Given the description of an element on the screen output the (x, y) to click on. 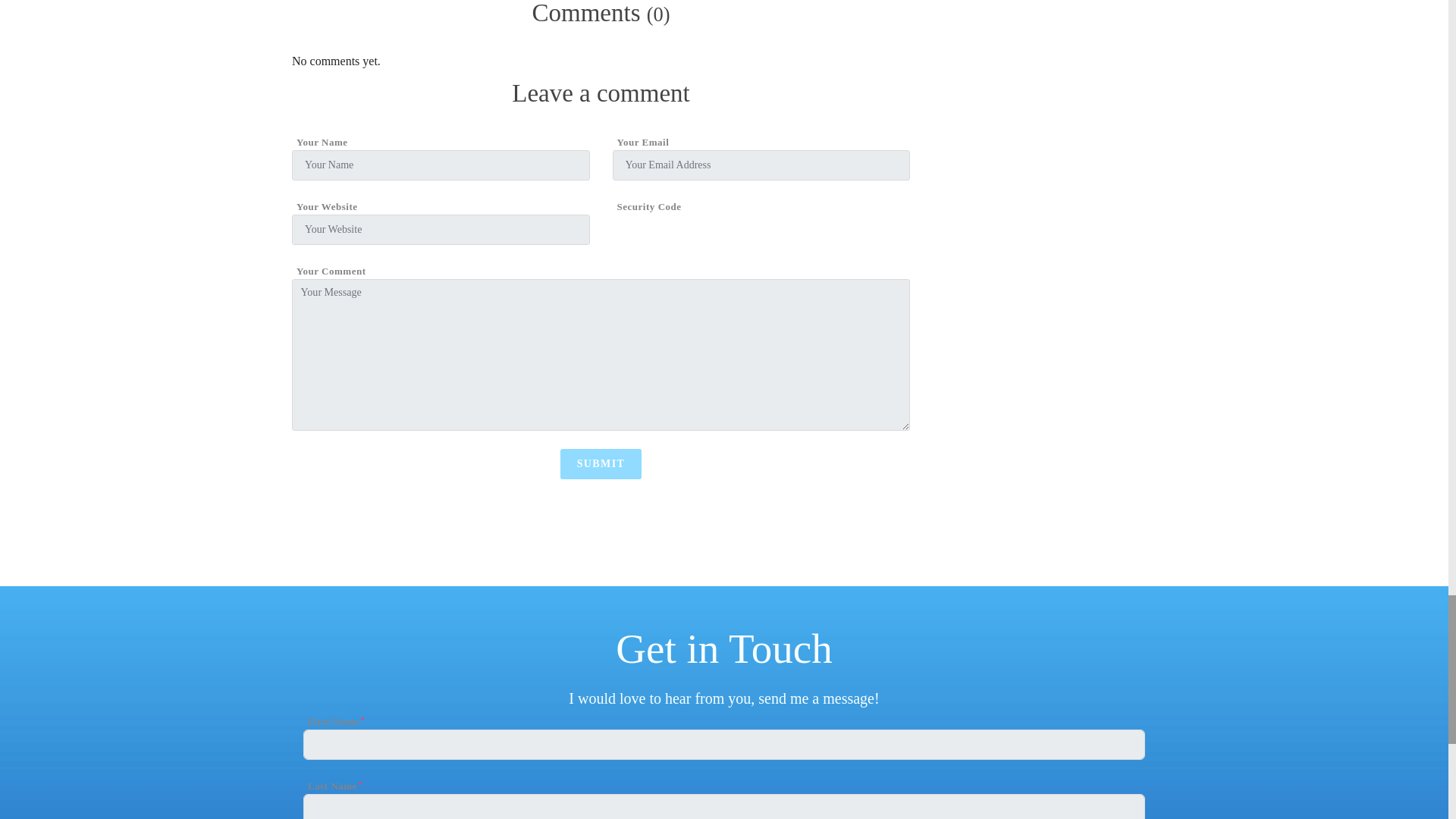
Submit (601, 463)
Submit (601, 463)
